Given the description of an element on the screen output the (x, y) to click on. 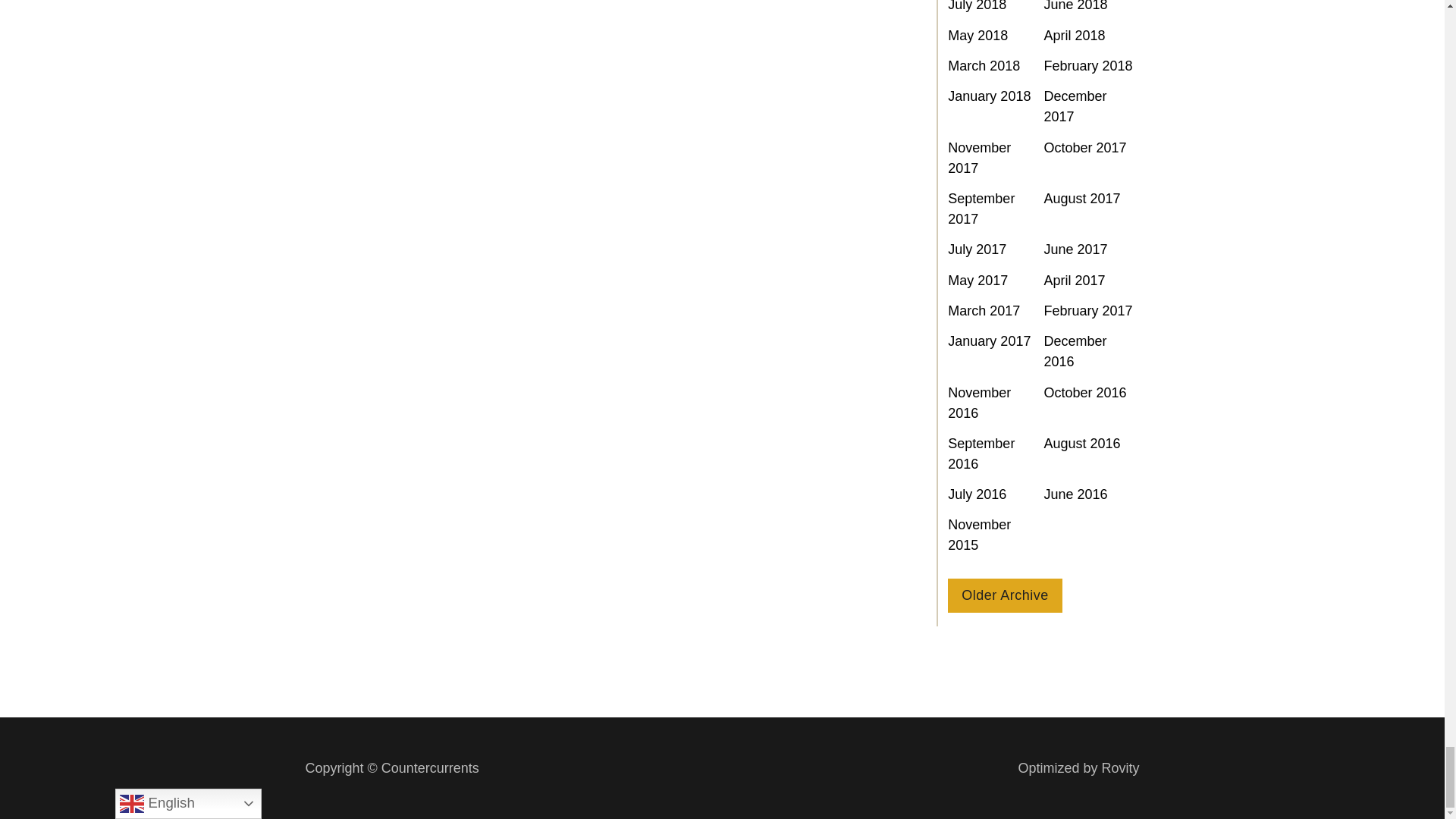
Rovity (1077, 768)
